Given the description of an element on the screen output the (x, y) to click on. 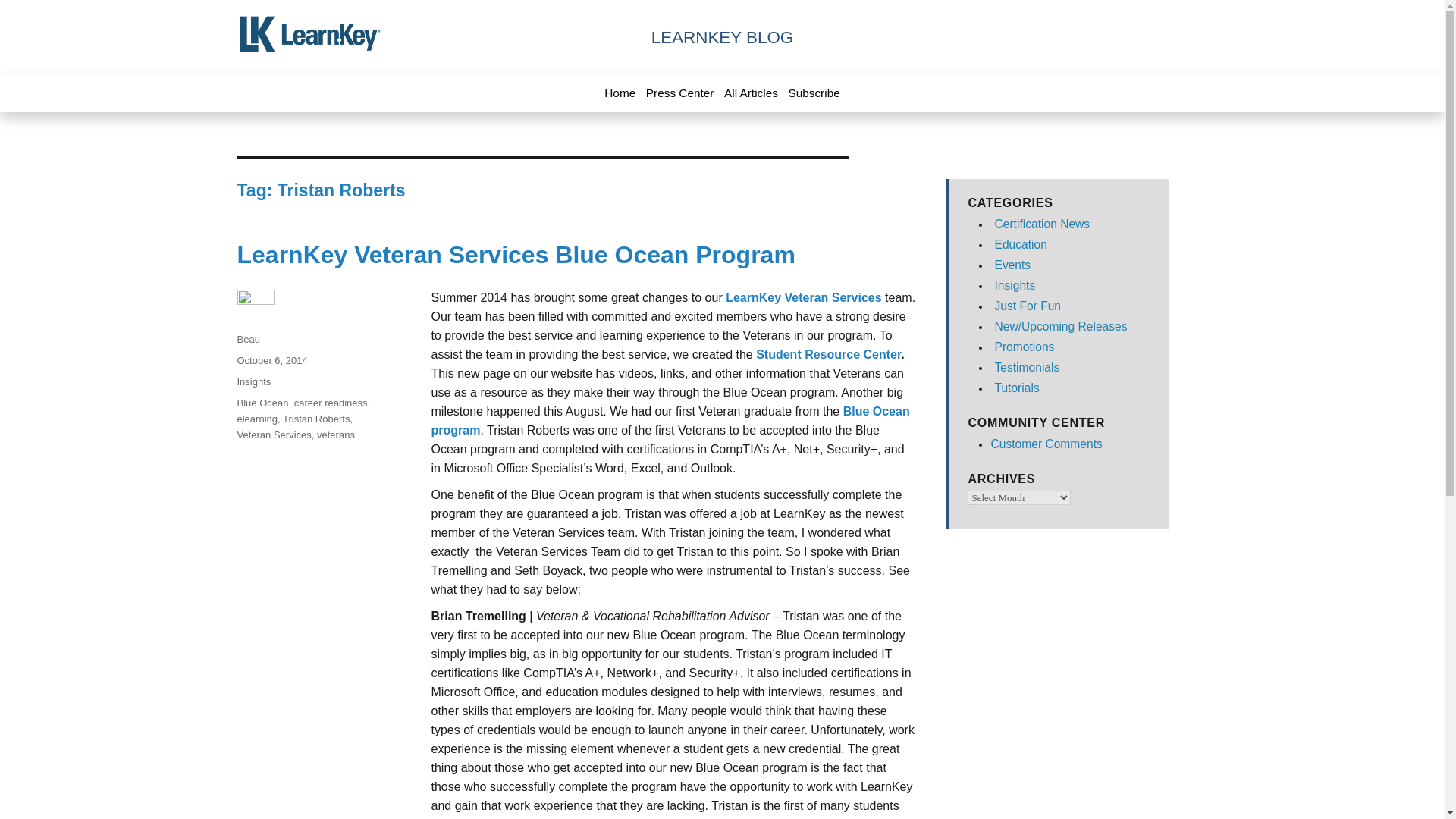
All Articles (750, 92)
LEARNKEY BLOG (721, 36)
Certification News (1041, 223)
Testimonials (1026, 367)
October 6, 2014 (271, 360)
Events (1012, 264)
Insights (252, 381)
Blue Ocean program (669, 420)
LearnKey Veteran Services Blue Ocean Program (514, 254)
Education (1020, 244)
Insights (1014, 285)
Tutorials (1016, 387)
Home (619, 92)
elearning (256, 419)
Veteran Services (273, 434)
